Given the description of an element on the screen output the (x, y) to click on. 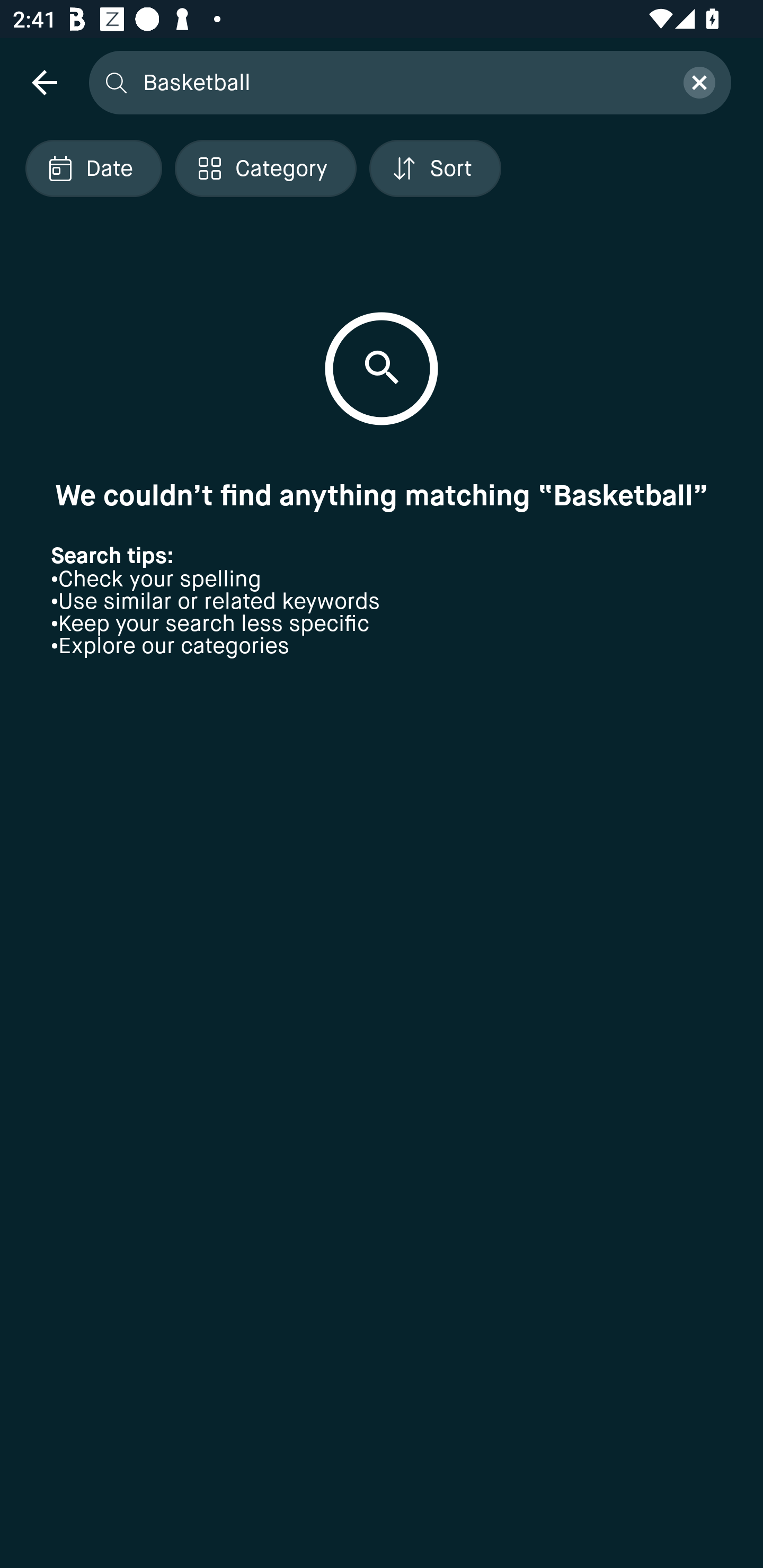
navigation icon (44, 81)
Basketball (402, 81)
Localized description Date (93, 168)
Localized description Category (265, 168)
Localized description Sort (435, 168)
We couldn’t find anything matching “Basketball” (381, 495)
